Given the description of an element on the screen output the (x, y) to click on. 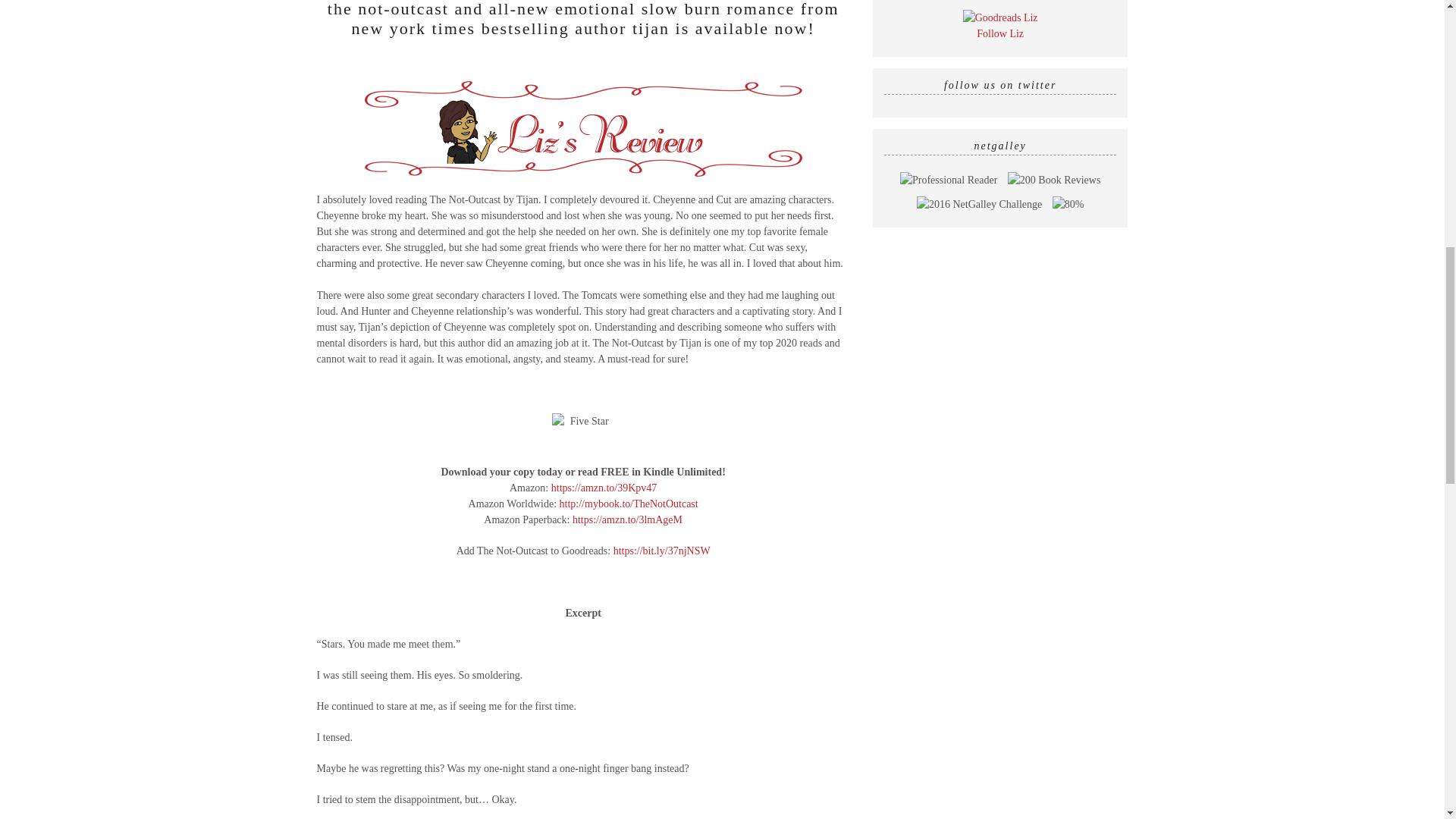
2016 NetGalley Challenge (979, 204)
50 Book Reviews (1053, 179)
Professional Reader (948, 179)
